Given the description of an element on the screen output the (x, y) to click on. 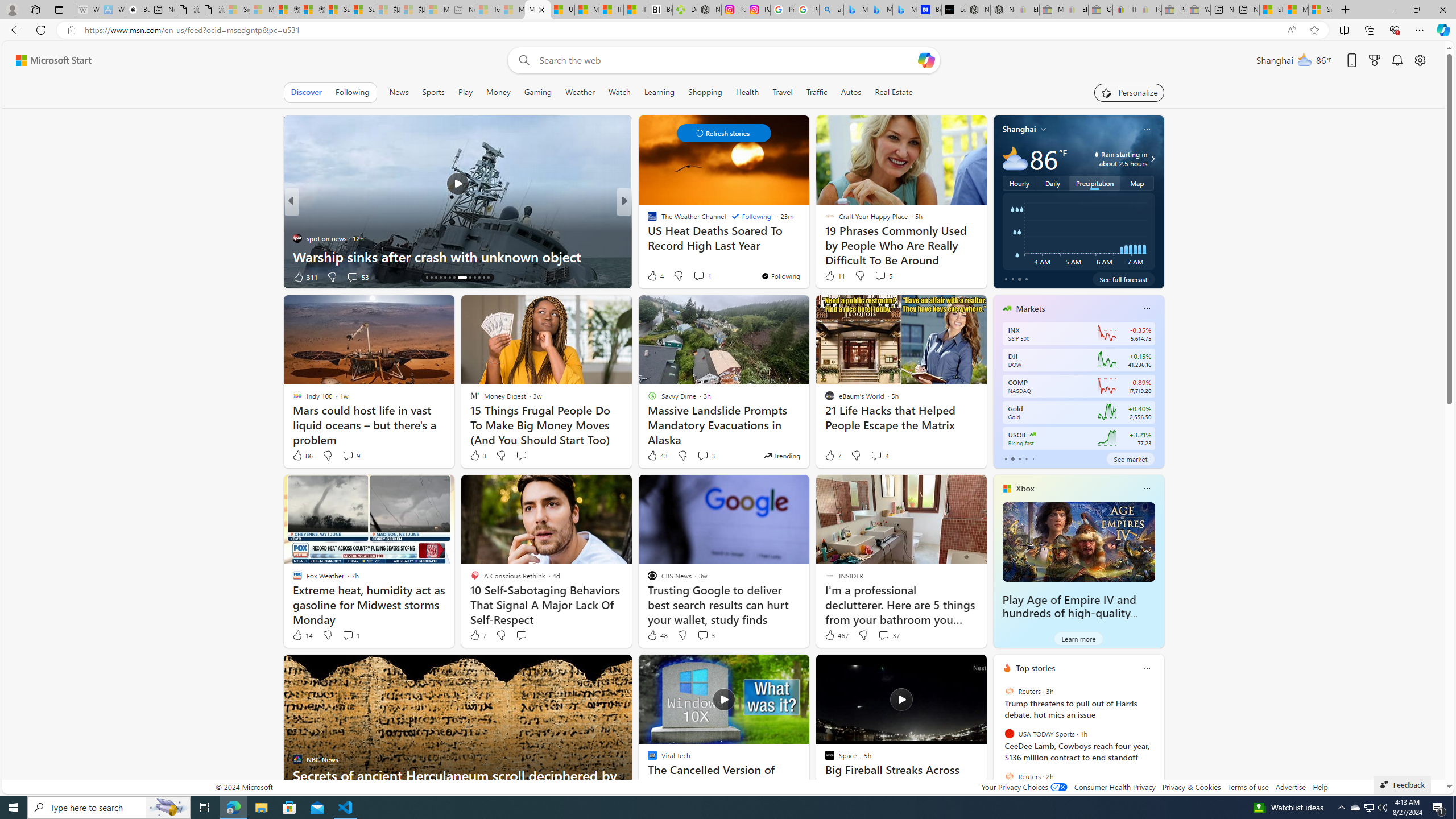
tab-2 (1019, 458)
AutomationID: tab-19 (449, 277)
Press Room - eBay Inc. - Sleeping (1174, 9)
Personalize your feed" (1129, 92)
AutomationID: tab-14 (426, 277)
